Given the description of an element on the screen output the (x, y) to click on. 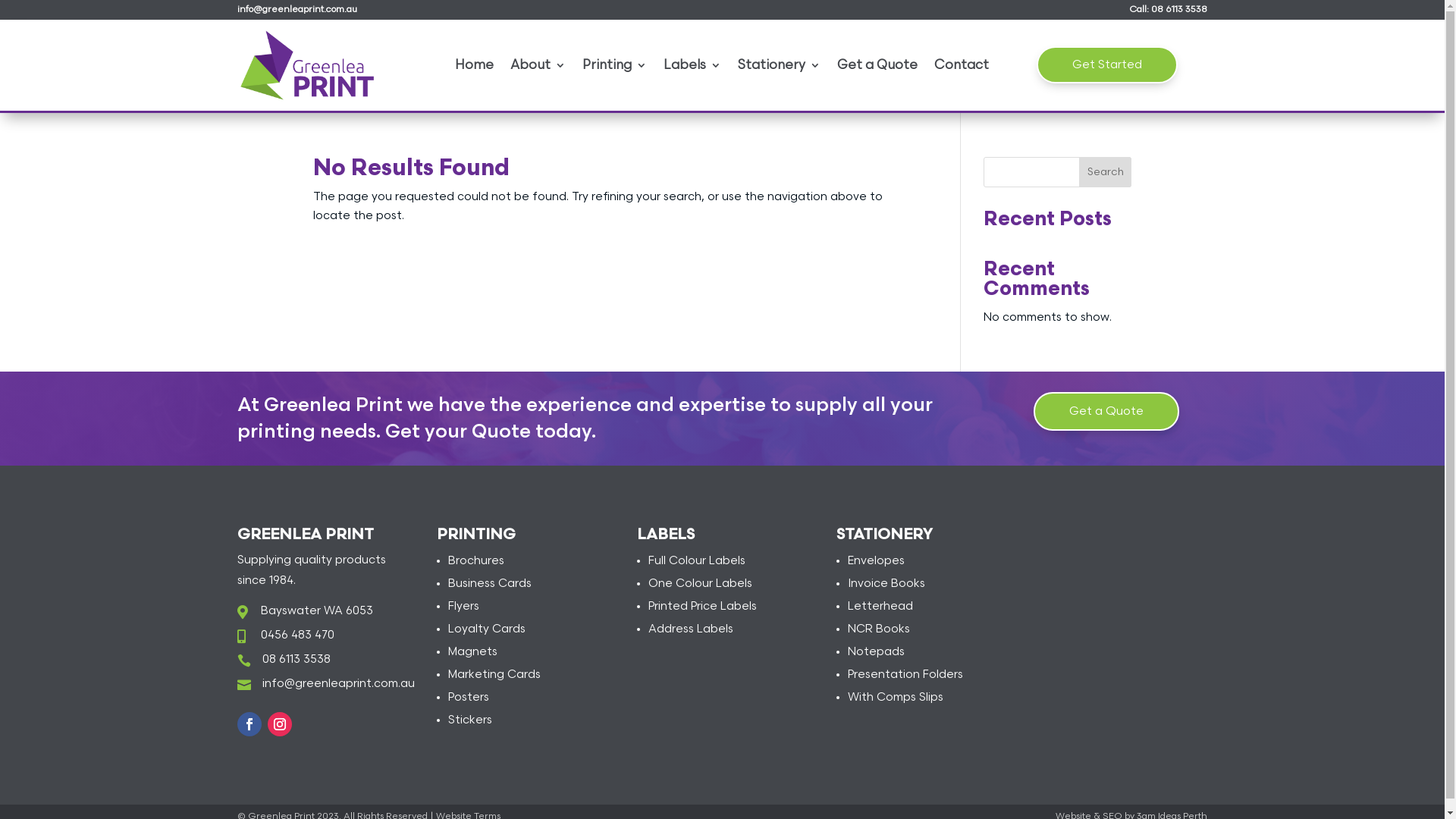
Contact Element type: text (961, 67)
08 6113 3538 Element type: text (296, 658)
Get a Quote Element type: text (877, 67)
Home Element type: text (474, 67)
Greenlea-Print-Logo-Perth Element type: hover (306, 65)
About Element type: text (537, 67)
Notepads Element type: text (875, 651)
0456 483 470 Element type: text (297, 634)
08 6113 3538 Element type: text (1179, 9)
Printing Element type: text (614, 67)
With Comps Slips Element type: text (895, 696)
Flyers Element type: text (463, 605)
Letterhead Element type: text (880, 605)
Marketing Cards Element type: text (494, 674)
Presentation Folders Element type: text (905, 674)
Loyalty Cards Element type: text (486, 628)
Printed Price Labels Element type: text (702, 605)
Posters Element type: text (468, 696)
NCR Books Element type: text (878, 628)
Search Element type: text (1105, 171)
info@greenleaprint.com.au Element type: text (338, 683)
Brochures Element type: text (476, 560)
info@greenleaprint.com.au Element type: text (296, 9)
Magnets Element type: text (472, 651)
Full Colour Labels Element type: text (696, 560)
Follow on Instagram Element type: hover (278, 724)
One Colour Labels Element type: text (700, 583)
Get a Quote Element type: text (1106, 411)
Labels Element type: text (692, 67)
Stickers Element type: text (470, 719)
Follow on Facebook Element type: hover (248, 724)
Stationery Element type: text (778, 67)
Invoice Books Element type: text (886, 583)
Envelopes Element type: text (875, 560)
Address Labels Element type: text (690, 628)
Get Started Element type: text (1106, 65)
Business Cards Element type: text (489, 583)
